Given the description of an element on the screen output the (x, y) to click on. 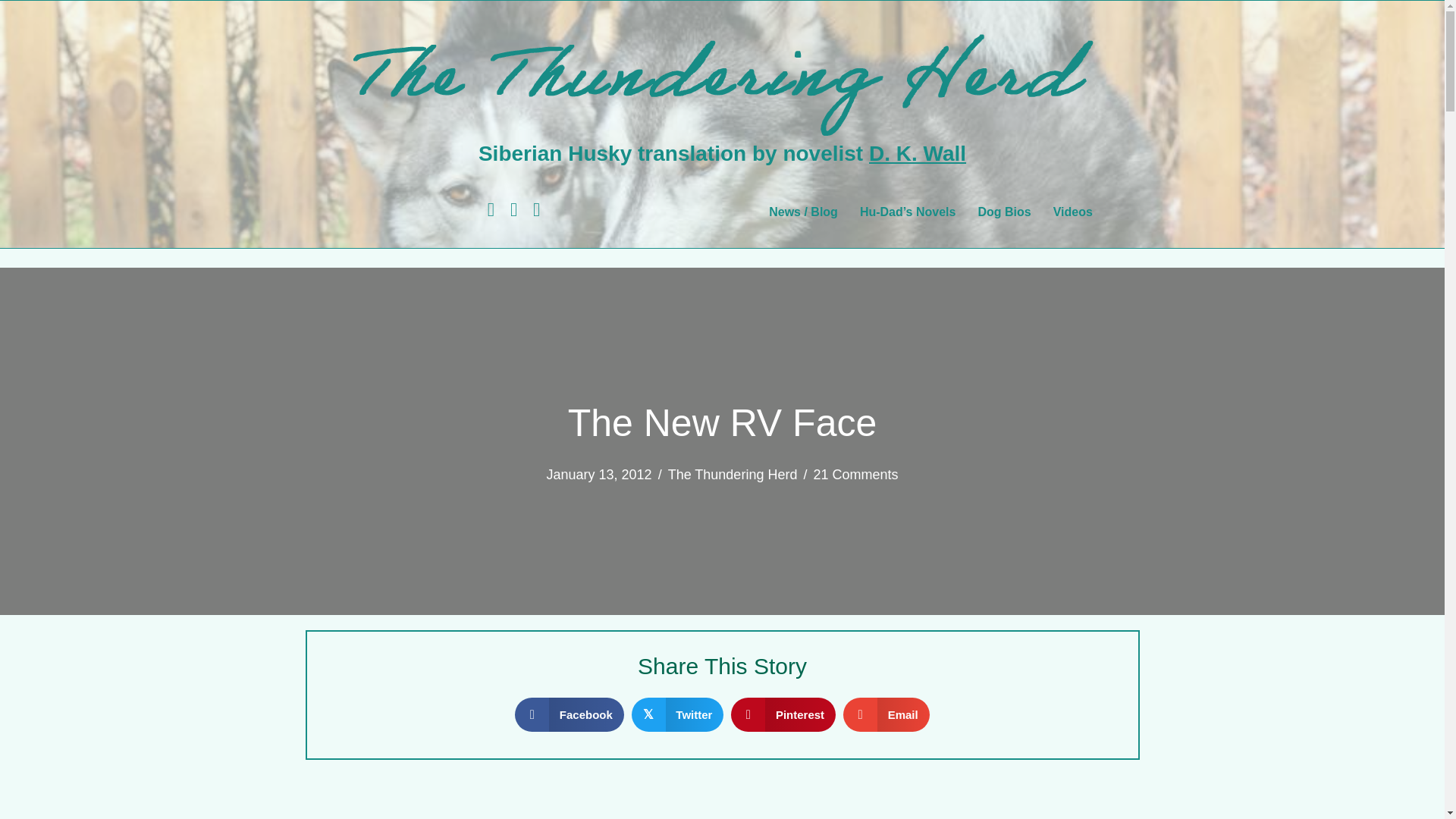
Facebook (569, 714)
21 Comments (855, 474)
D. K. Wall (917, 153)
Email (886, 714)
Videos (1072, 212)
TTH Header 2021-07-13 (721, 76)
Dog Bios (1003, 212)
The Thundering Herd (732, 474)
Pinterest (782, 714)
